Given the description of an element on the screen output the (x, y) to click on. 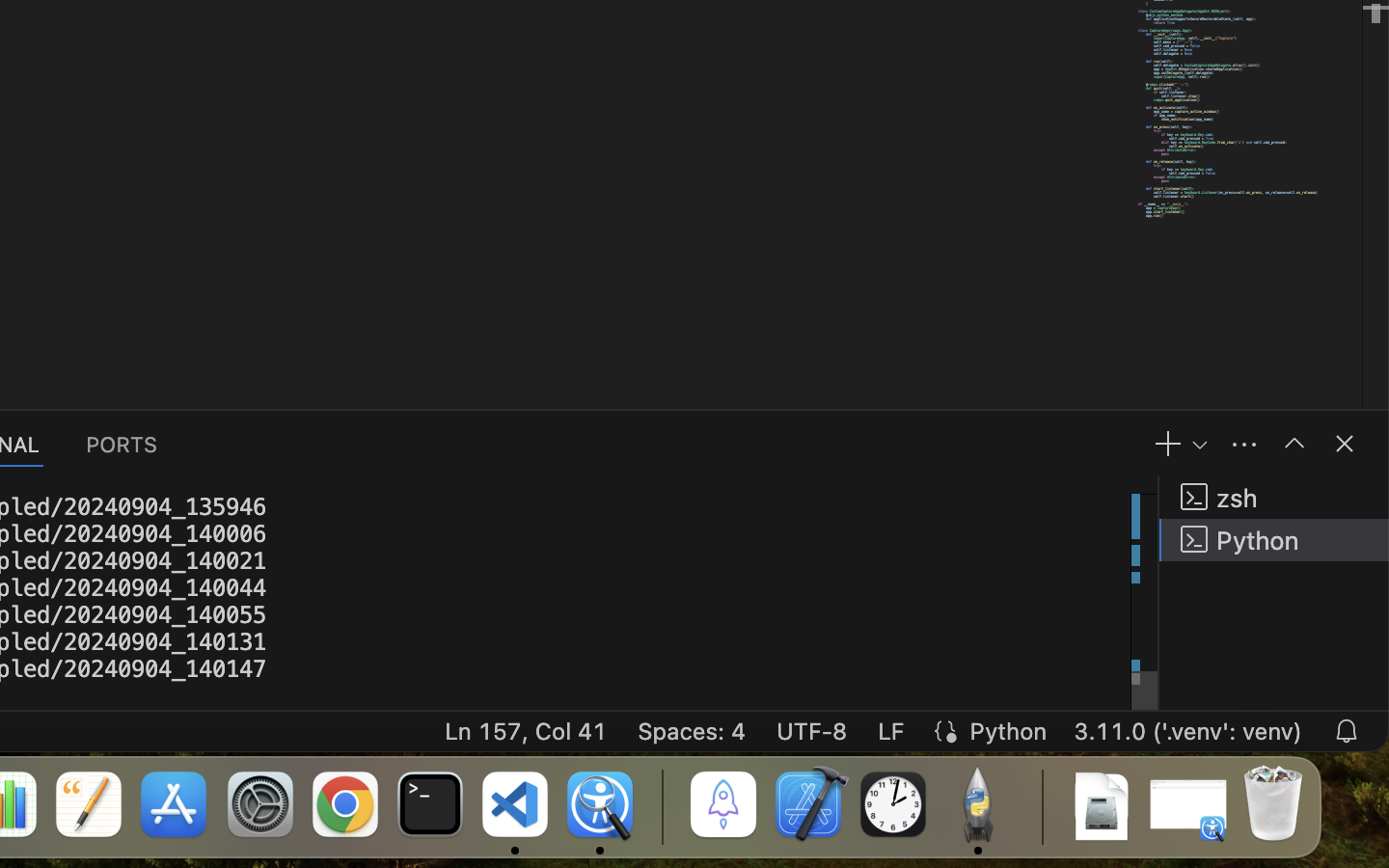
 Element type: AXButton (1344, 443)
